Given the description of an element on the screen output the (x, y) to click on. 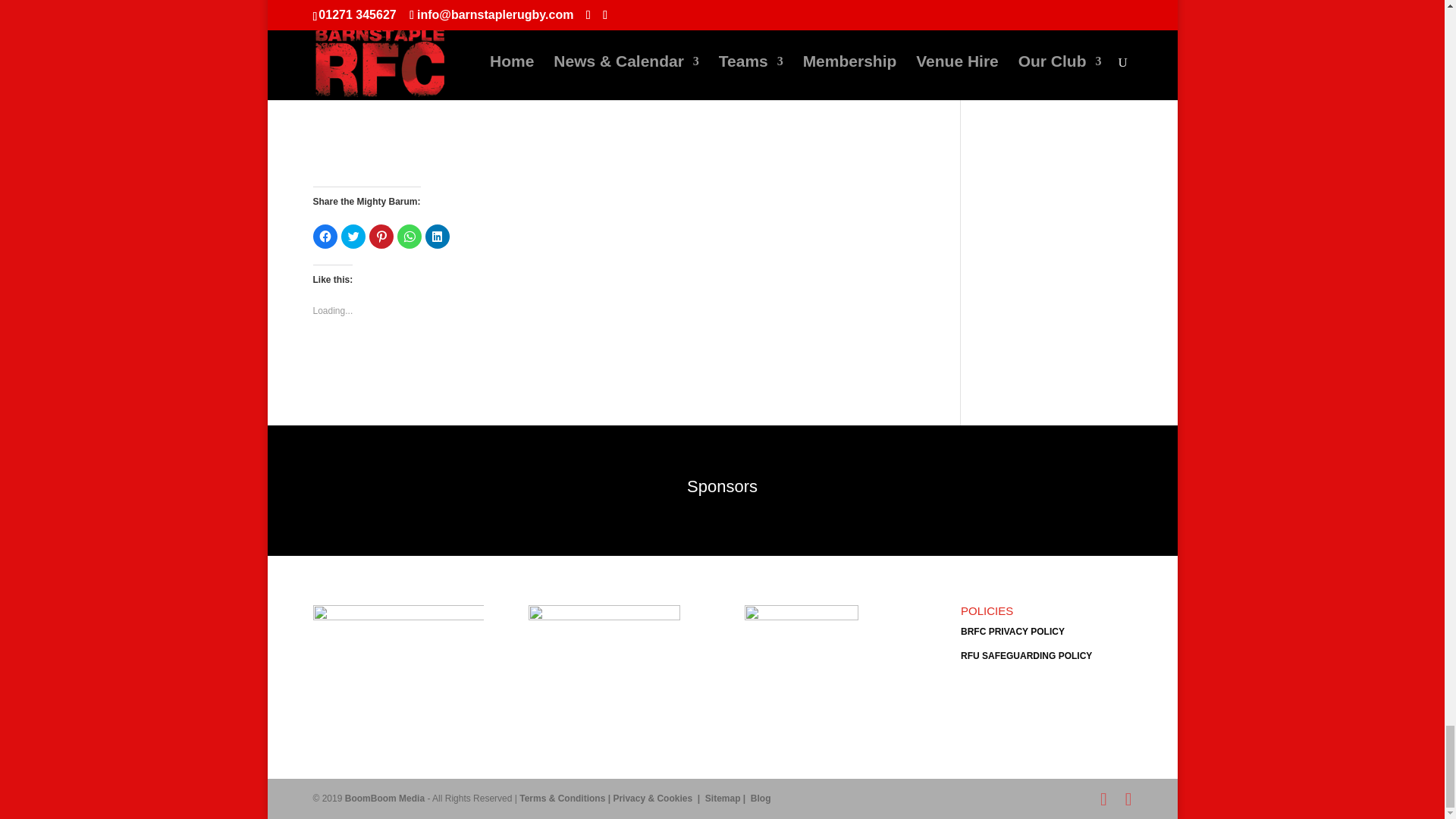
Click to share on WhatsApp (409, 236)
Click to share on Twitter (352, 236)
Click to share on Facebook (324, 236)
Click to share on LinkedIn (436, 236)
Click to share on Pinterest (380, 236)
